Given the description of an element on the screen output the (x, y) to click on. 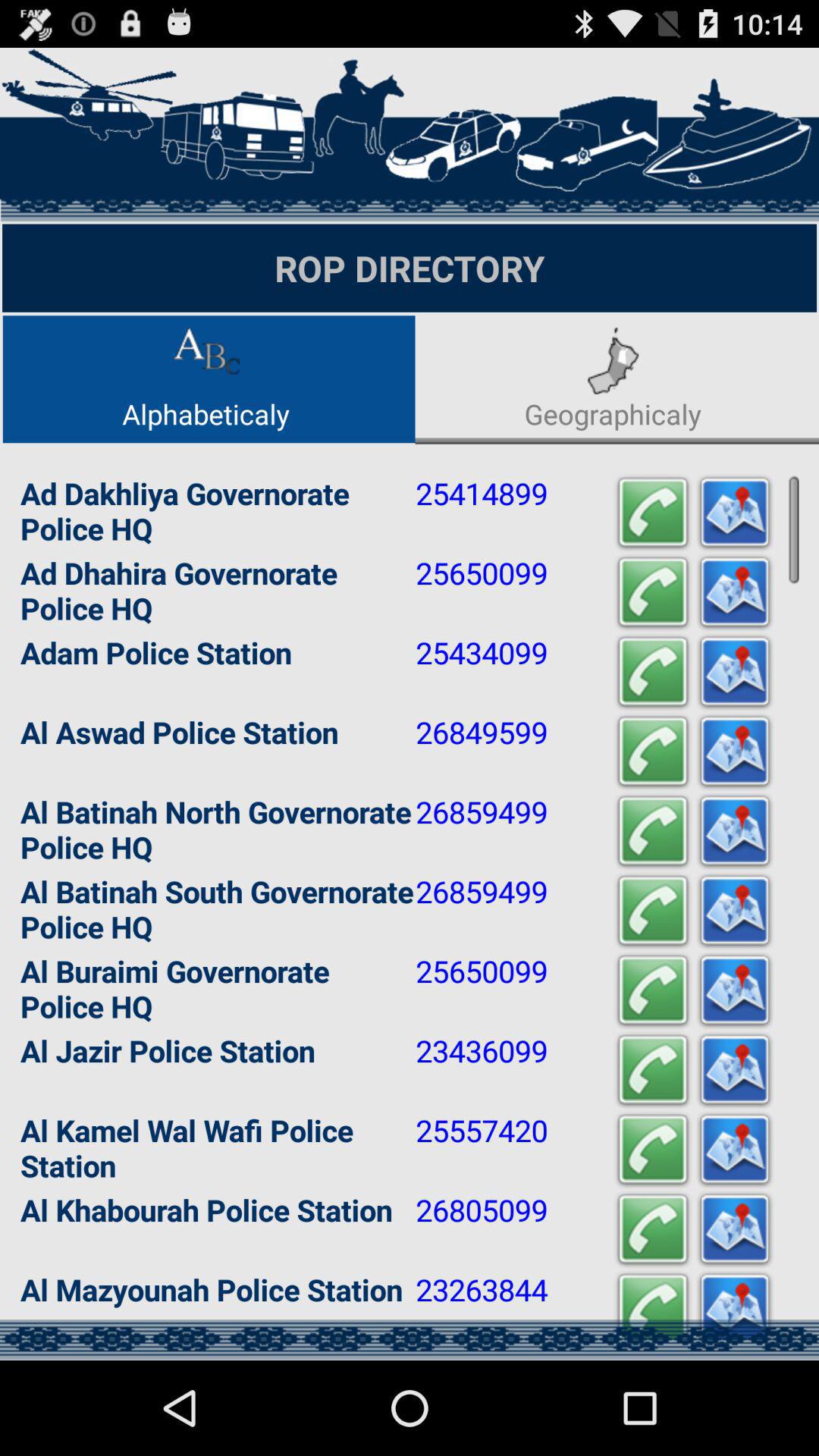
get directions of current contact (734, 592)
